Given the description of an element on the screen output the (x, y) to click on. 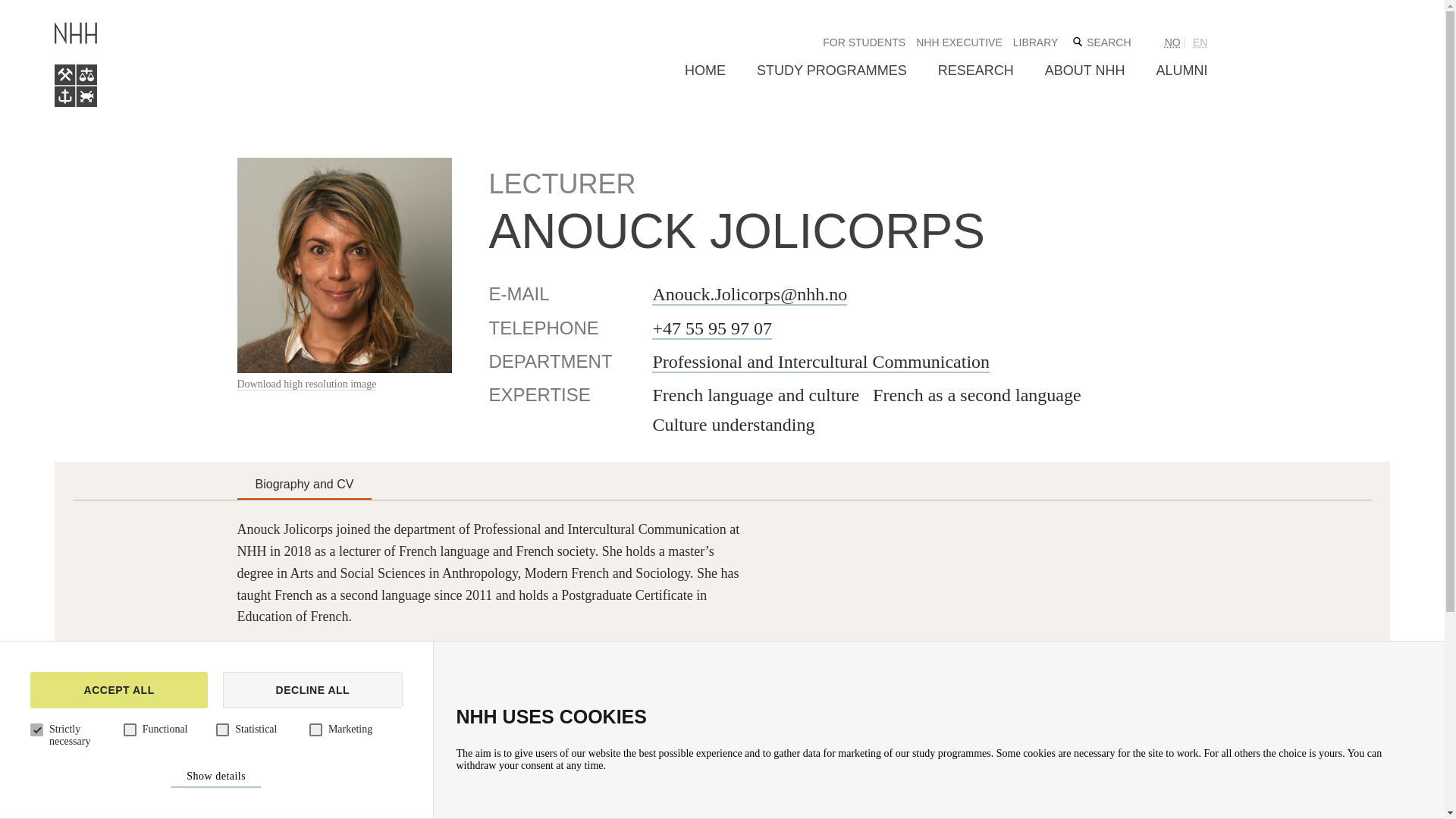
DECLINE ALL (311, 689)
Show details (215, 776)
ACCEPT ALL (119, 689)
